Given the description of an element on the screen output the (x, y) to click on. 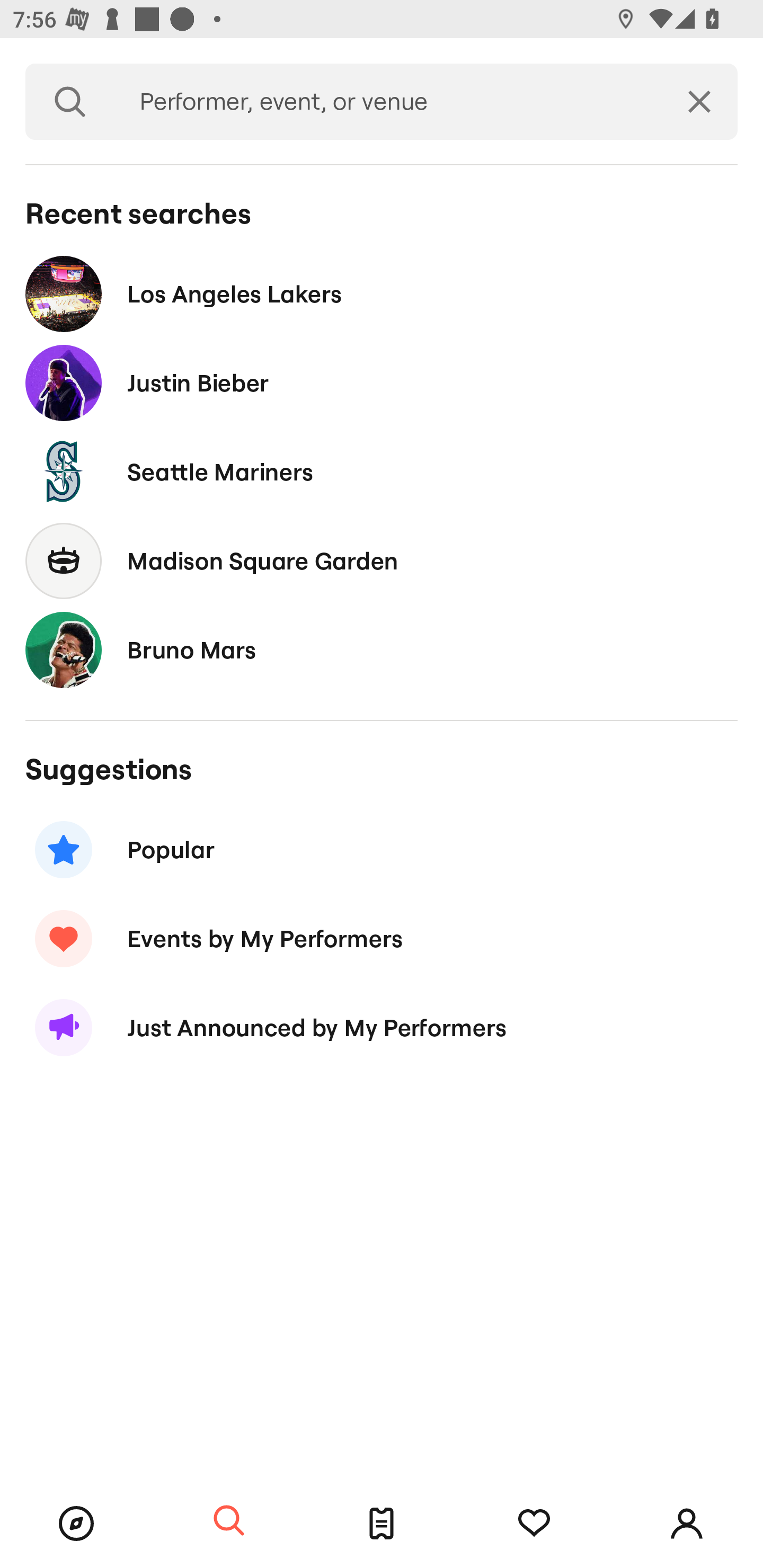
Search (69, 101)
Performer, event, or venue (387, 101)
Clear (699, 101)
Los Angeles Lakers (381, 293)
Justin Bieber (381, 383)
Seattle Mariners (381, 471)
Madison Square Garden (381, 560)
Bruno Mars (381, 649)
Popular (381, 849)
Events by My Performers (381, 938)
Just Announced by My Performers (381, 1027)
Browse (76, 1523)
Search (228, 1521)
Tickets (381, 1523)
Tracking (533, 1523)
Account (686, 1523)
